Given the description of an element on the screen output the (x, y) to click on. 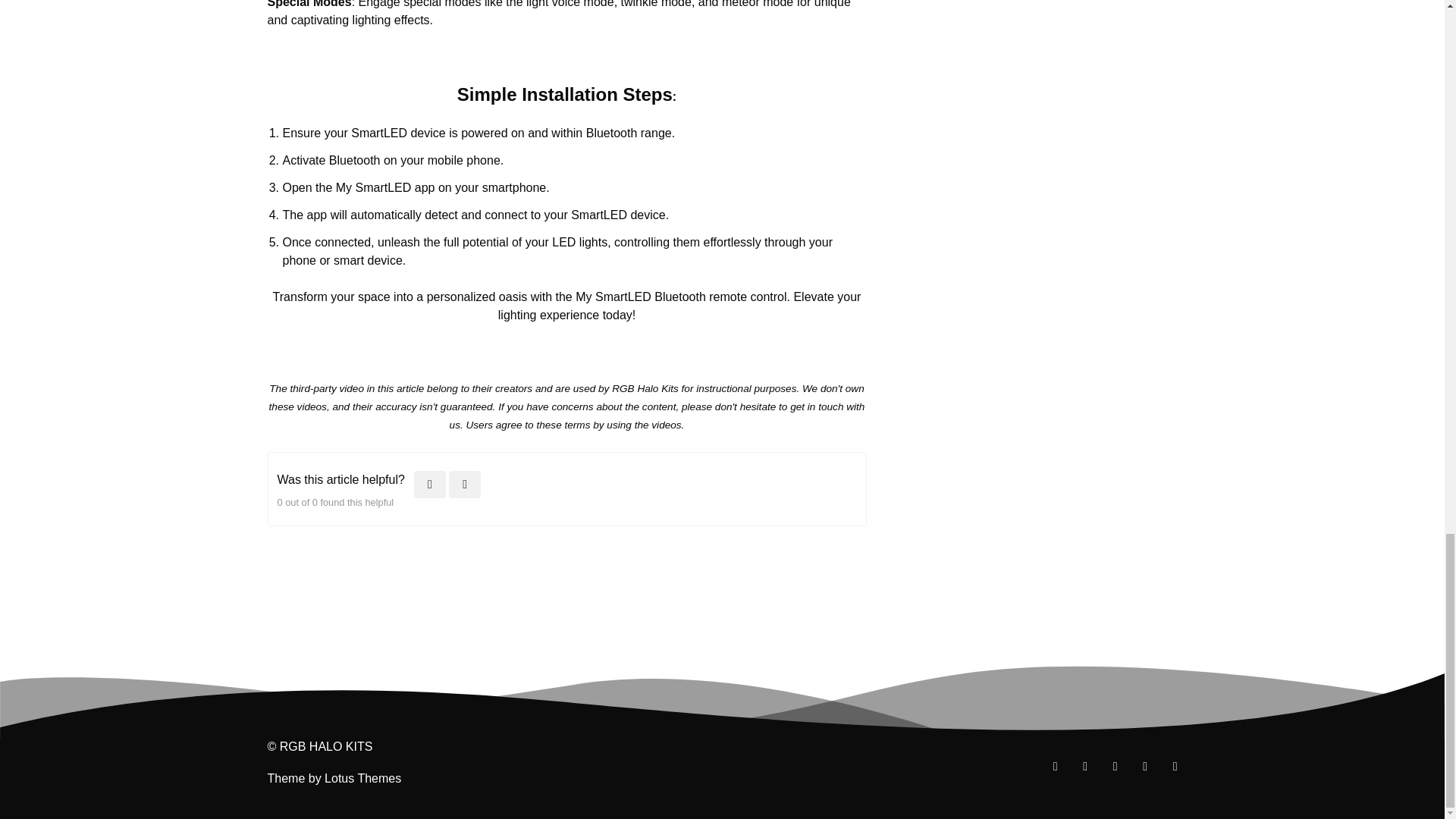
Lotus Themes (362, 778)
